Given the description of an element on the screen output the (x, y) to click on. 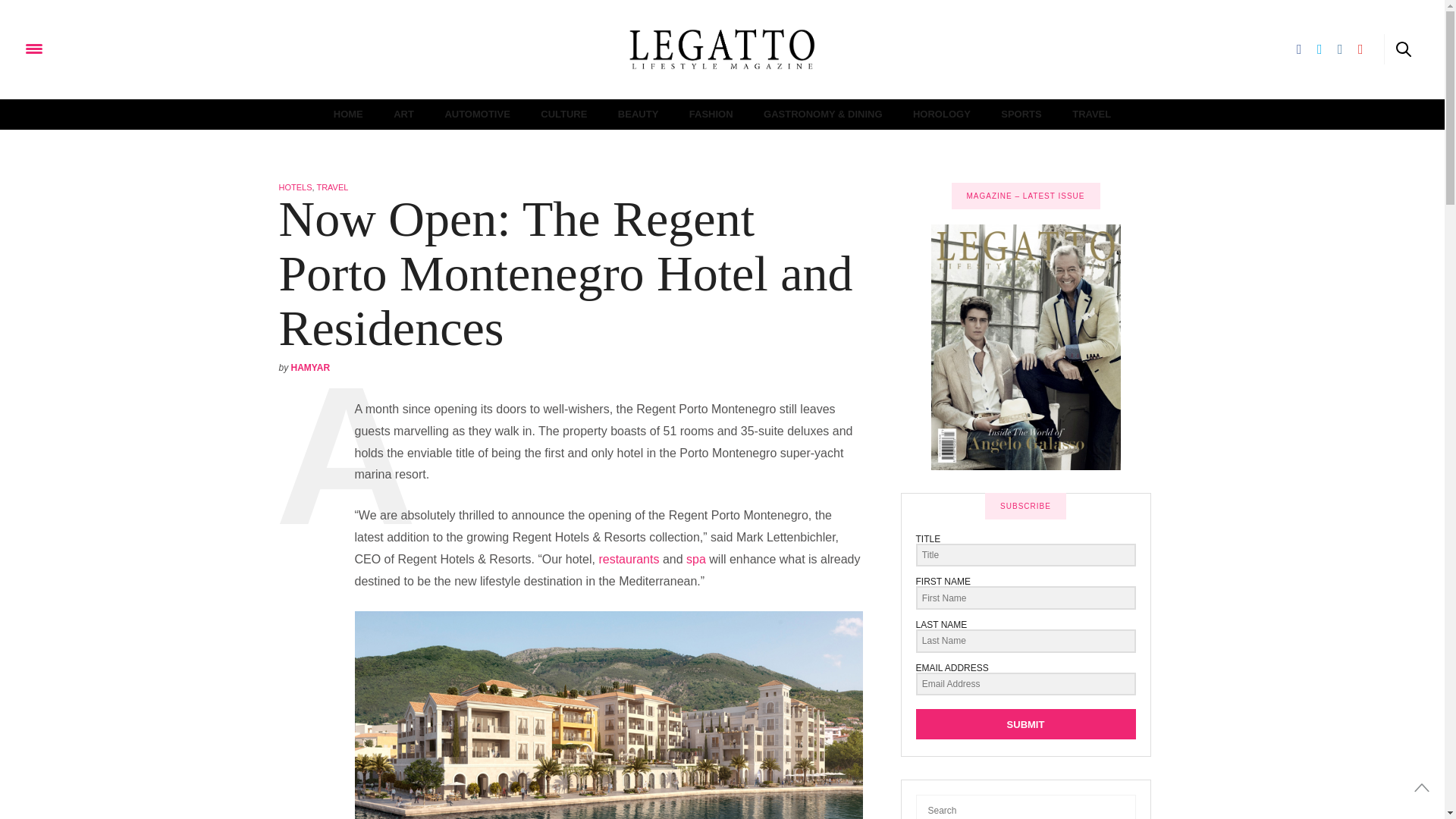
HOME (347, 114)
Legatto Lifestyle Magazine (721, 49)
CULTURE (563, 114)
AUTOMOTIVE (476, 114)
Legatto Lifestyle Magazine (109, 47)
